Given the description of an element on the screen output the (x, y) to click on. 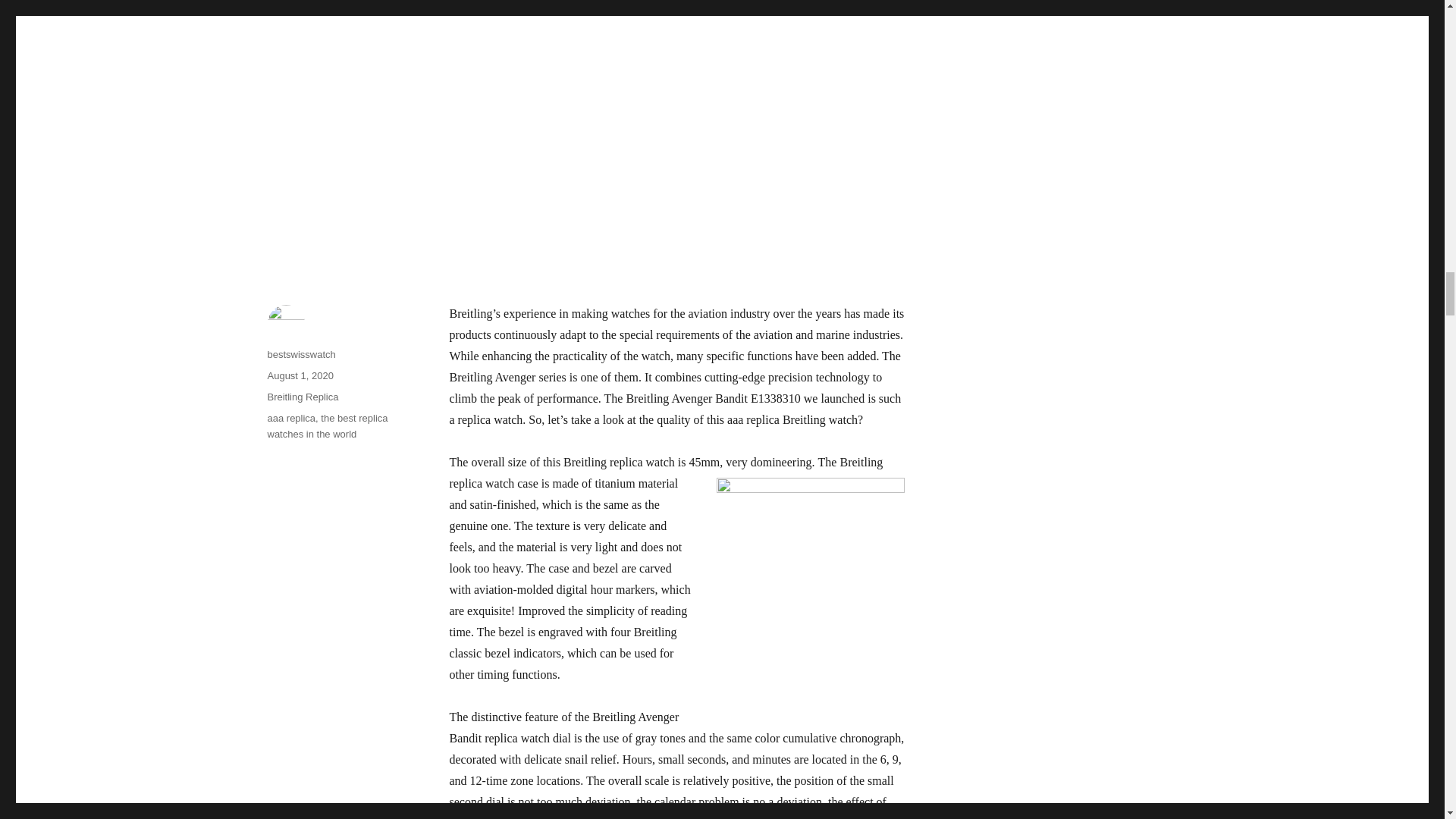
Breitling Replica (301, 396)
bestswisswatch (300, 354)
August 1, 2020 (299, 375)
aaa replica (290, 418)
the best replica watches in the world (326, 425)
